Given the description of an element on the screen output the (x, y) to click on. 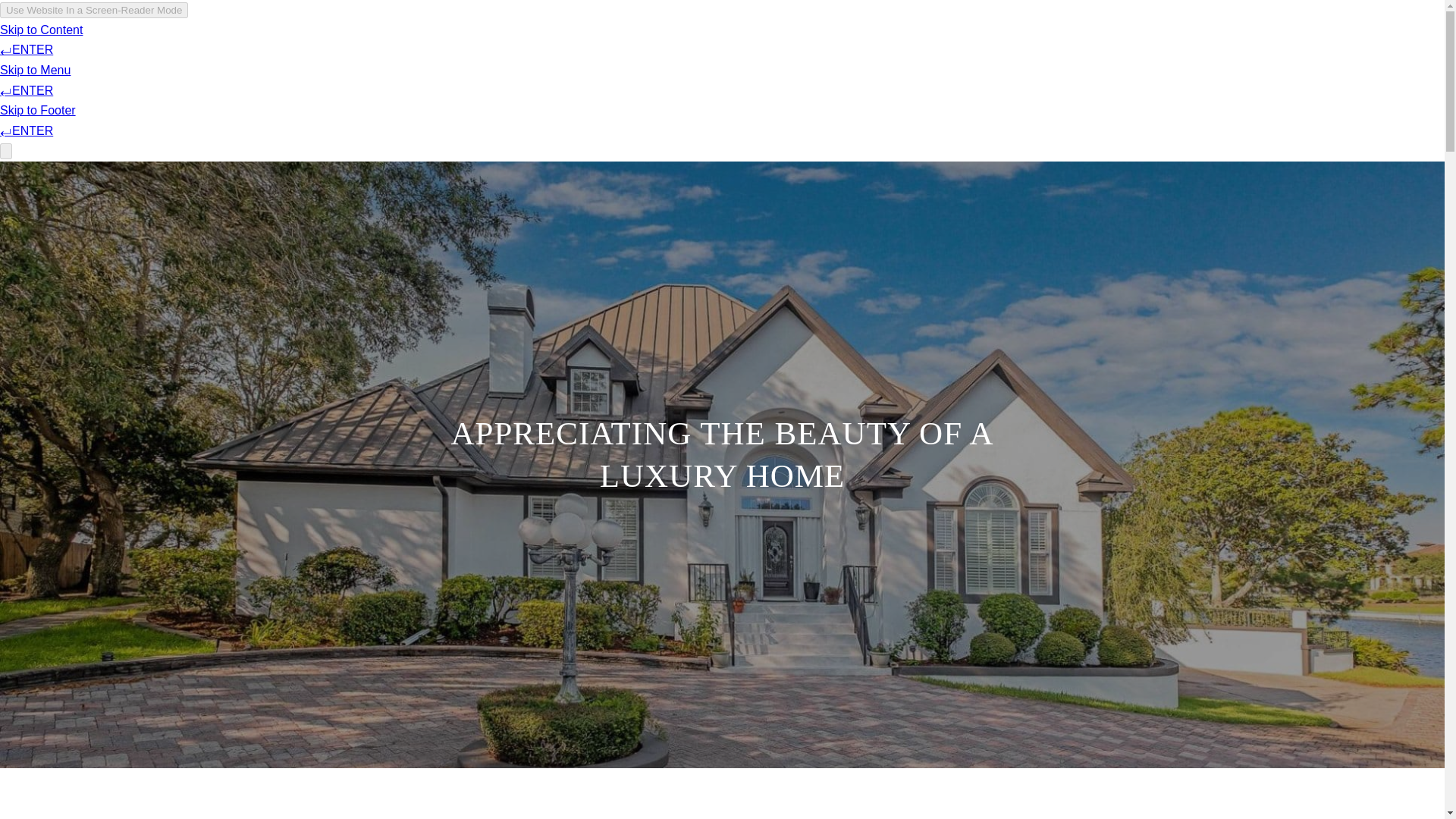
CONTACT US (1035, 37)
HOME SEARCH (939, 37)
ABOUT US (697, 37)
FEATURED PROPERTIES (812, 37)
